Given the description of an element on the screen output the (x, y) to click on. 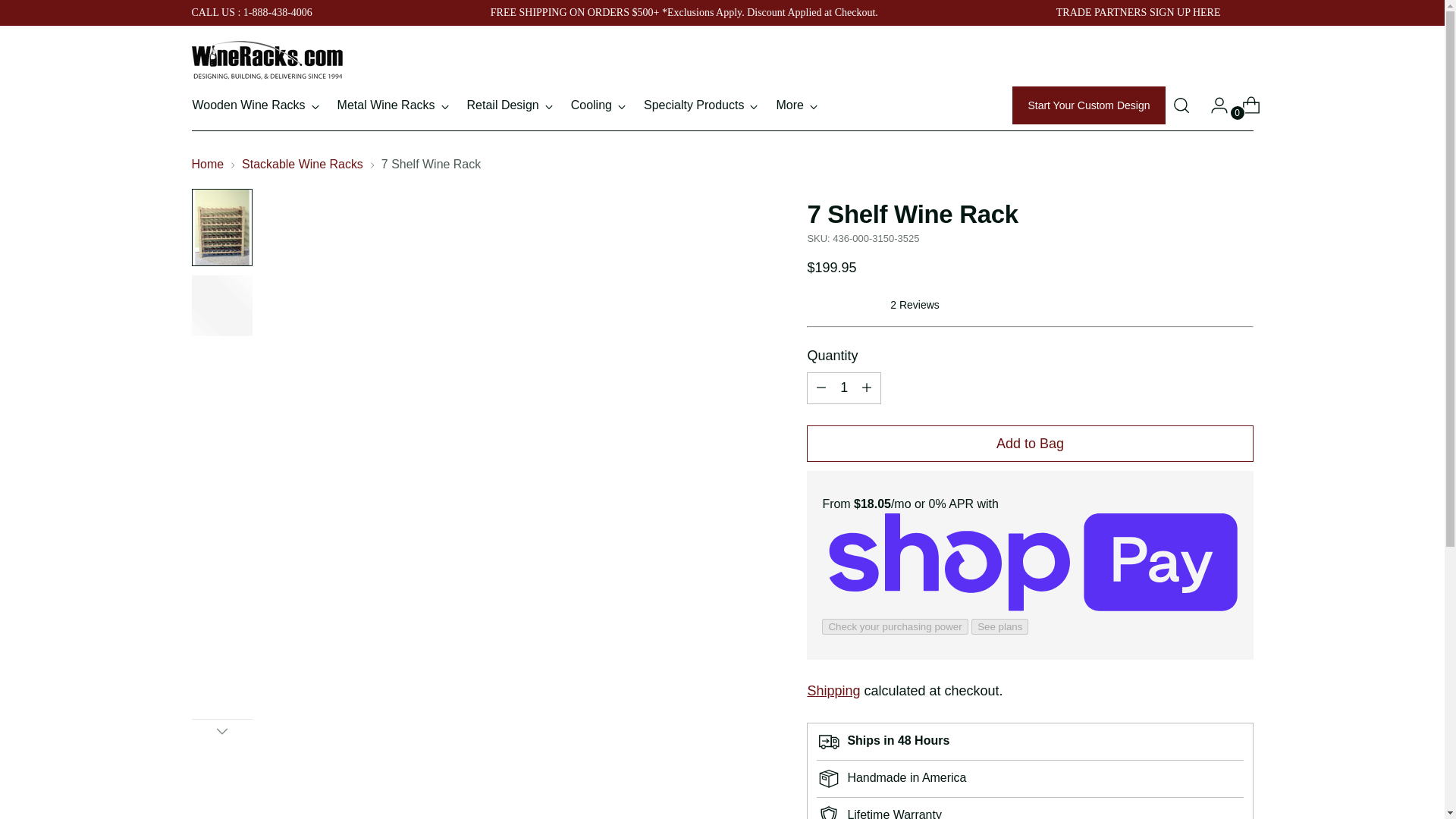
1 (843, 388)
Down (220, 730)
CALL US : 1-888-438-4006 (250, 12)
Metal Wine Racks (392, 105)
TRADE PARTNERS SIGN UP HERE (1139, 12)
Wooden Wine Racks (255, 105)
